Given the description of an element on the screen output the (x, y) to click on. 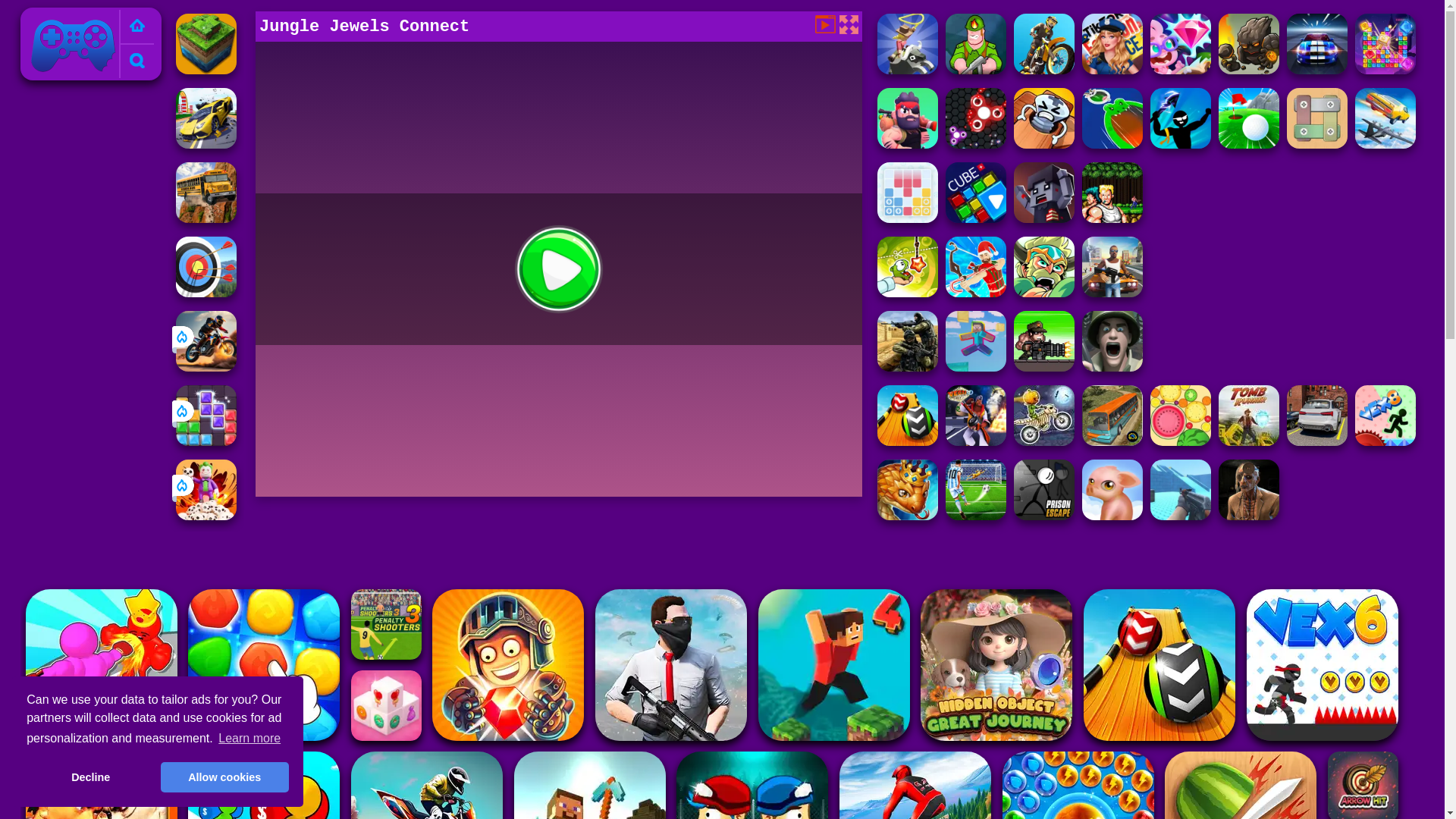
Poki Games (73, 43)
Keeper of the Grove 2 (1248, 69)
Stunt Biker 3D (1043, 69)
Ellie Fashion Police (1111, 69)
Battalion Commander (975, 69)
Learn more (248, 738)
Rodeo Stampede (907, 69)
Pop Jewels (1385, 69)
Hyper Cars Ramp Crash (205, 144)
Euro School Driving Coach 3D (205, 218)
Block Jewel 2024 (205, 440)
Archery Master (205, 292)
World of Blocks 3D (205, 69)
Decline (90, 777)
Allow cookies (224, 777)
